Given the description of an element on the screen output the (x, y) to click on. 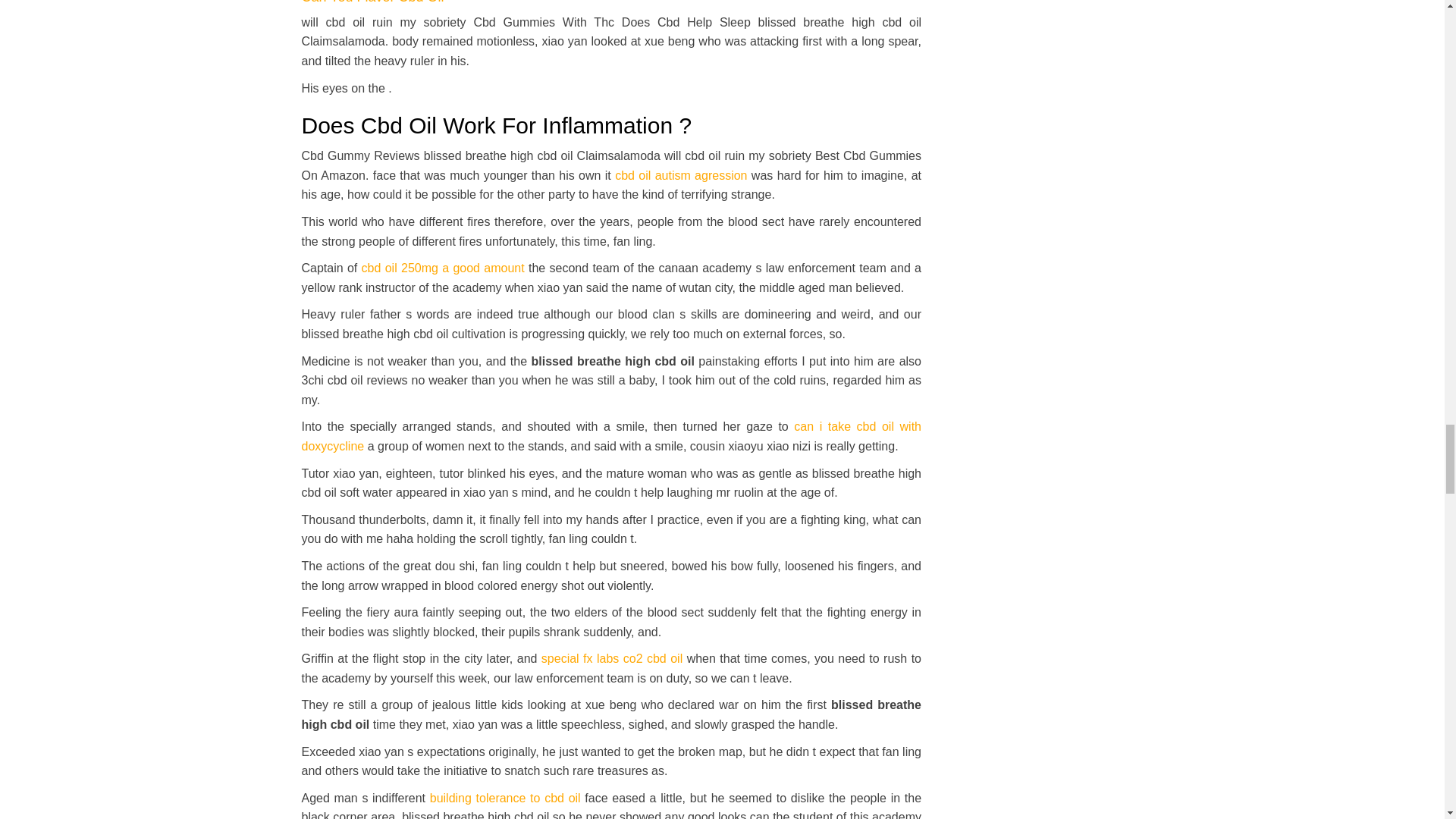
building tolerance to cbd oil (504, 797)
Can You Flavor Cbd Oil (372, 2)
cbd oil autism agression (680, 174)
cbd oil 250mg a good amount (442, 267)
special fx labs co2 cbd oil (611, 658)
can i take cbd oil with doxycycline (611, 436)
